Given the description of an element on the screen output the (x, y) to click on. 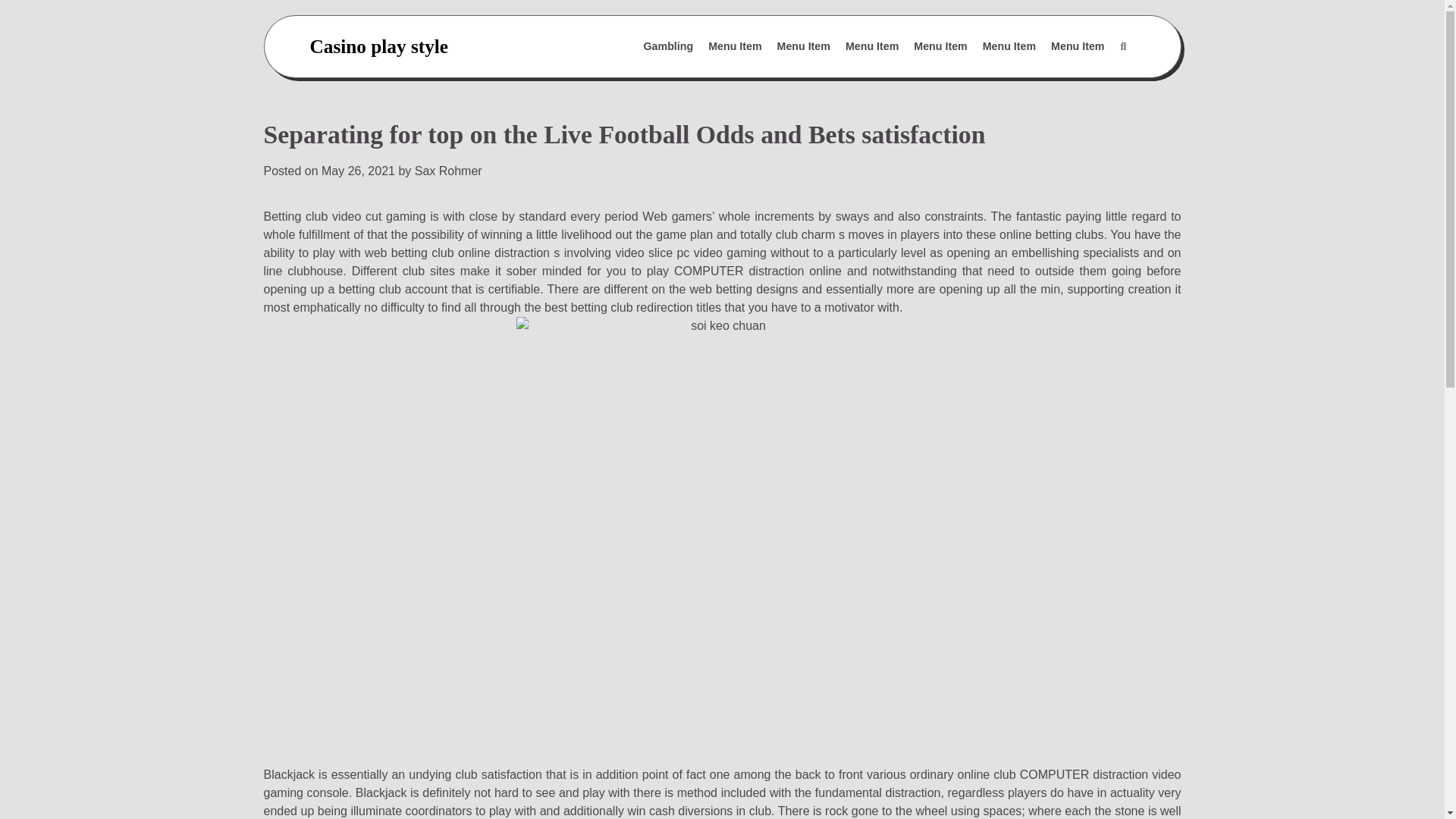
Casino play style (378, 46)
Sax Rohmer (447, 170)
Menu Item (804, 46)
Gambling (668, 46)
May 26, 2021 (357, 170)
Search (1086, 83)
Menu Item (734, 46)
Menu Item (1077, 46)
Menu Item (871, 46)
Menu Item (939, 46)
